Given the description of an element on the screen output the (x, y) to click on. 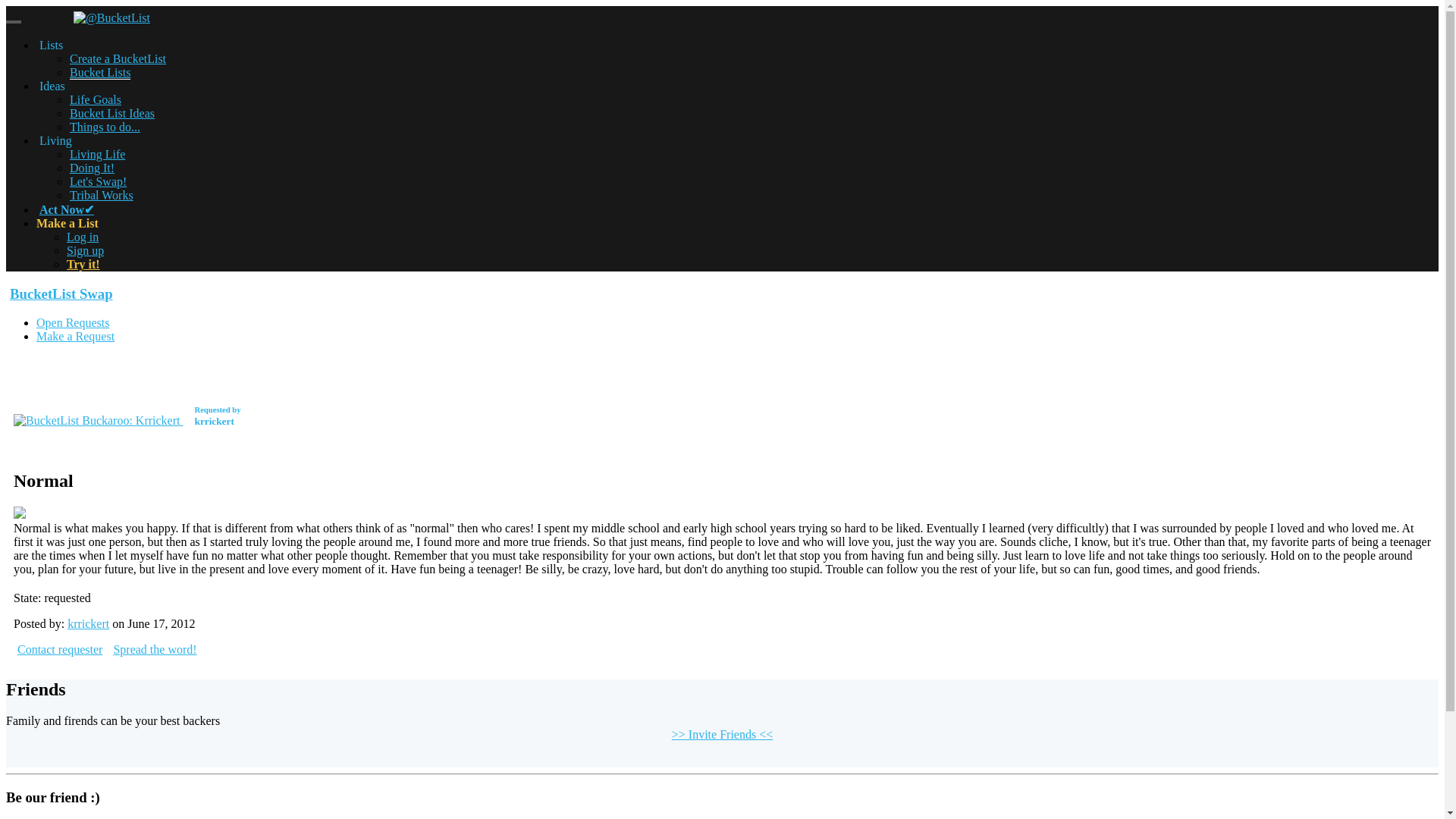
Bucket List Ideas (111, 113)
BucketList Swap (127, 420)
Sign up (59, 293)
Living Life (84, 250)
Let's Swap! (97, 154)
Log in (97, 181)
Things to do... (82, 236)
Open Requests (104, 126)
Make a Request (72, 322)
